Given the description of an element on the screen output the (x, y) to click on. 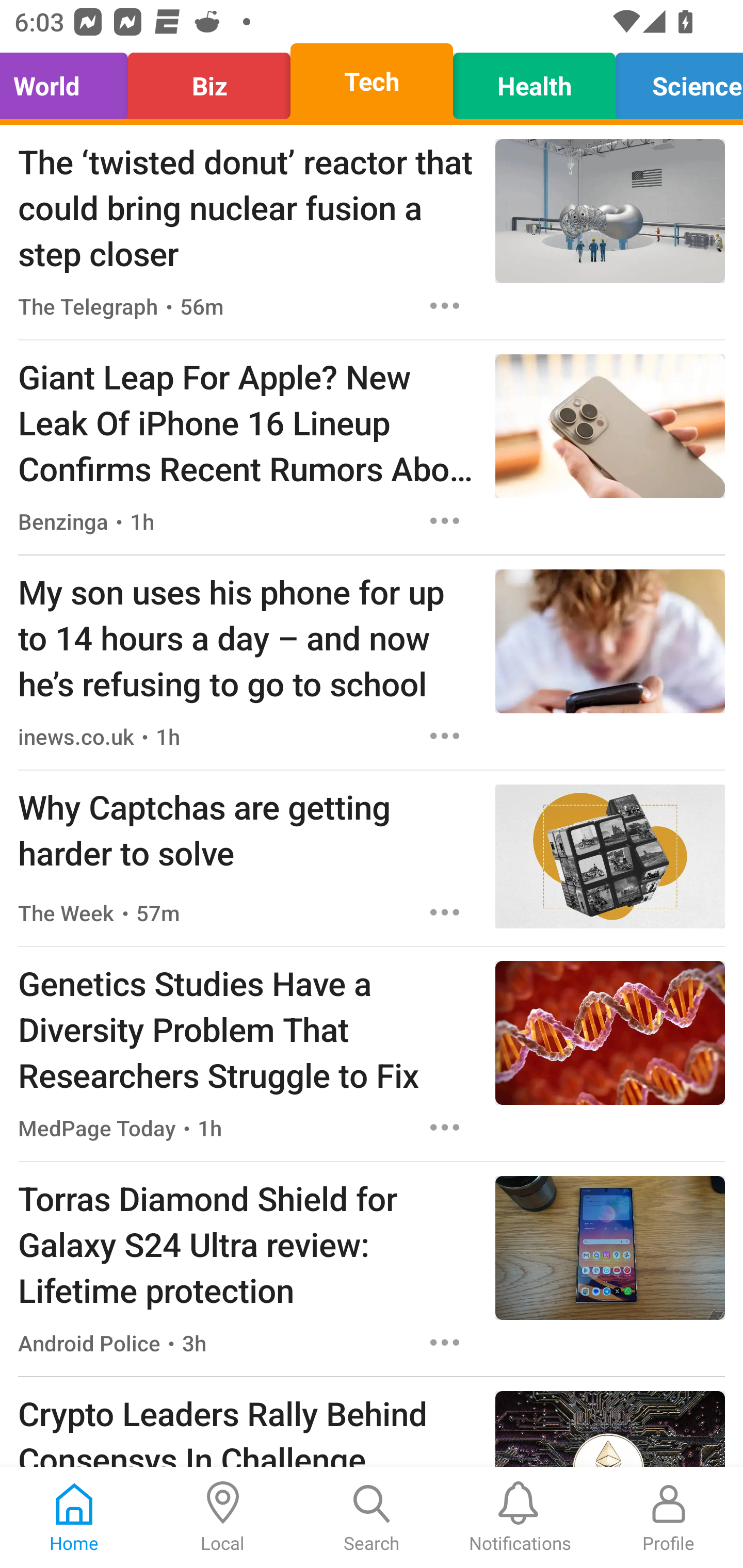
World (69, 81)
Biz (209, 81)
Tech (371, 81)
Health (534, 81)
Science (673, 81)
Options (444, 305)
Options (444, 520)
Options (444, 736)
Options (444, 912)
Options (444, 1127)
Options (444, 1342)
Local (222, 1517)
Search (371, 1517)
Notifications (519, 1517)
Profile (668, 1517)
